Given the description of an element on the screen output the (x, y) to click on. 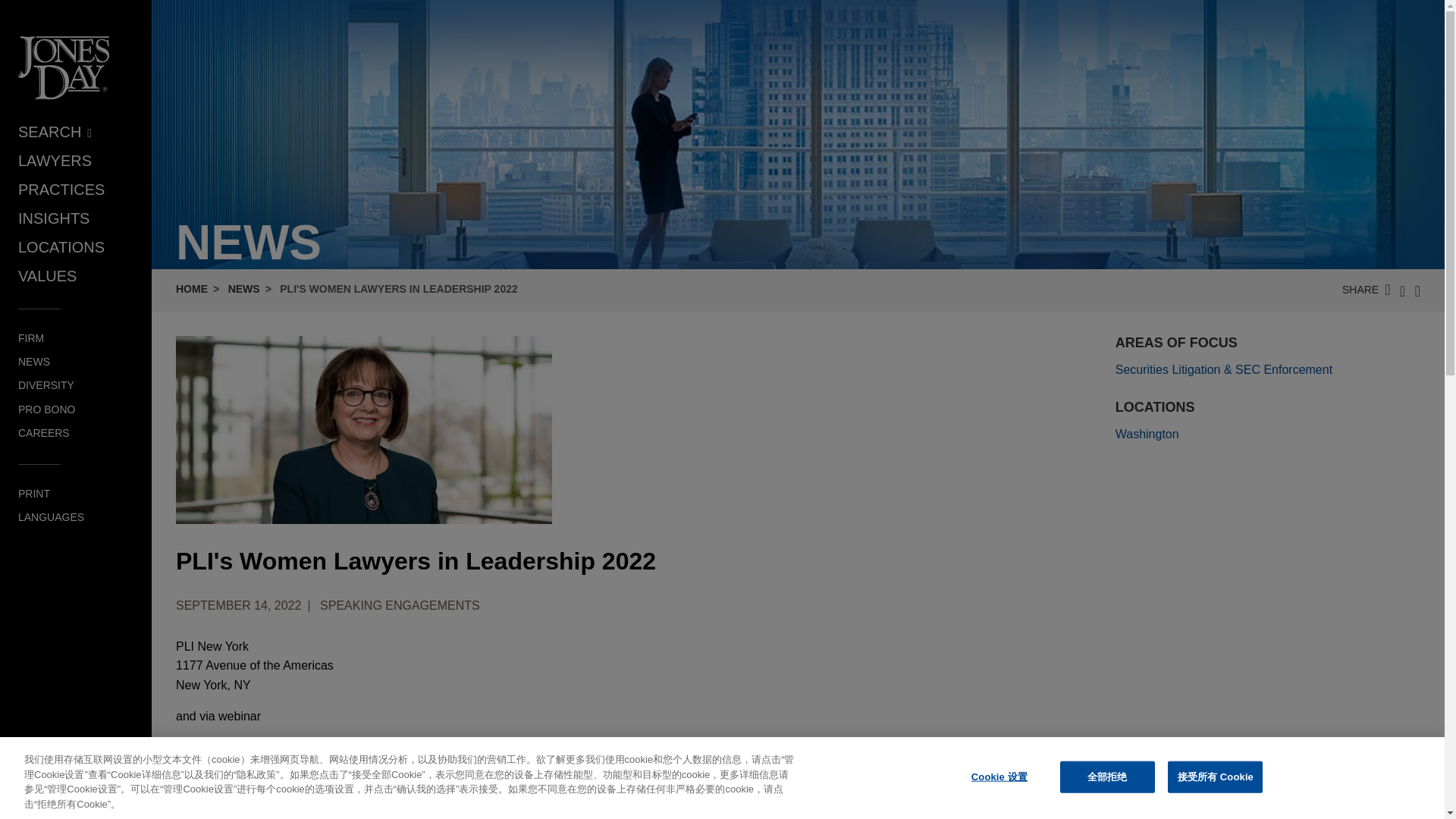
NEWS (244, 288)
LOCATIONS (60, 247)
PRACTICES (60, 189)
HOME (192, 288)
PRINT (33, 493)
FIRM (30, 337)
PRO BONO (46, 409)
NEWS (33, 361)
CAREERS (43, 432)
INSIGHTS (52, 217)
